Given the description of an element on the screen output the (x, y) to click on. 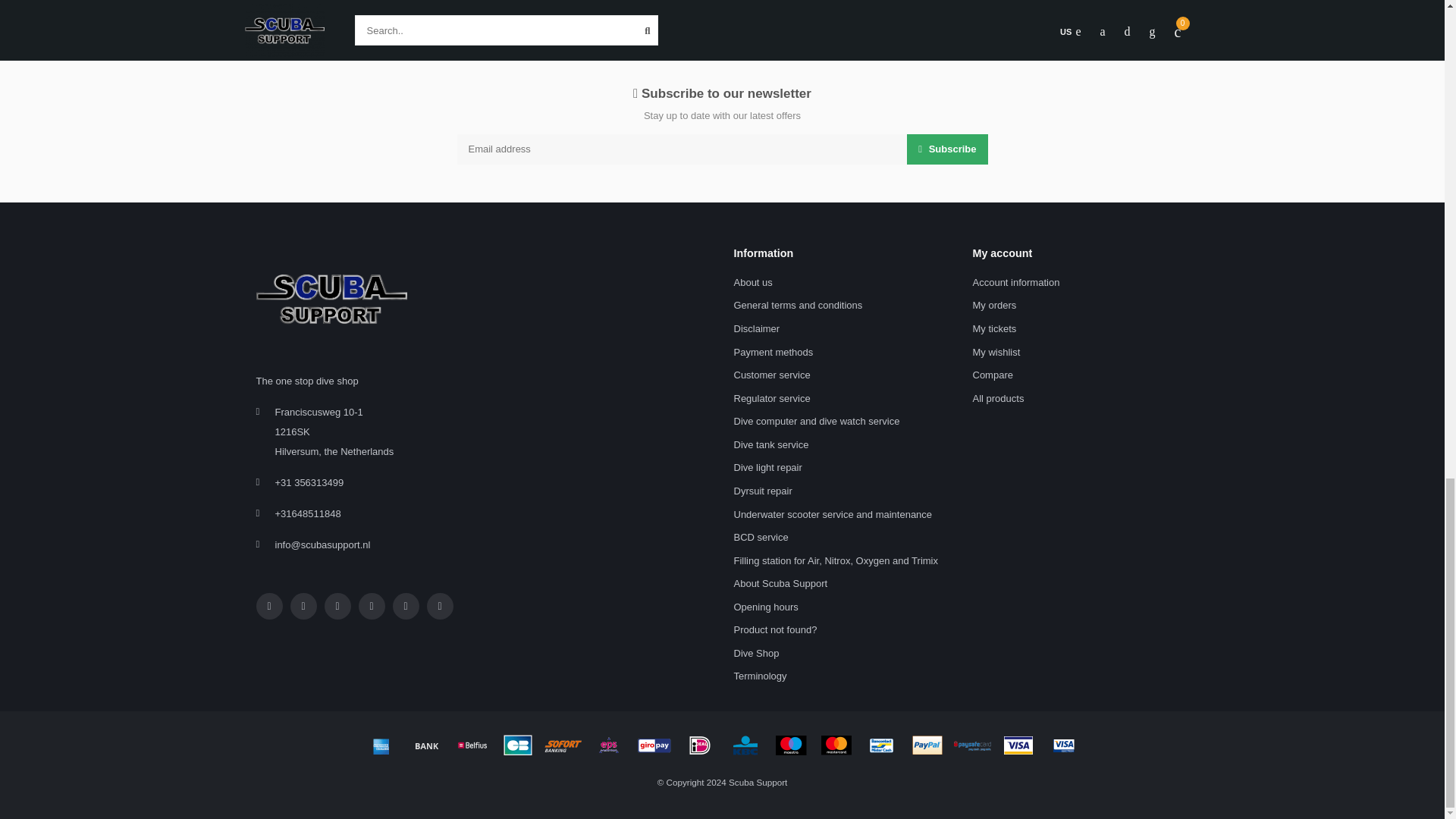
General terms and conditions (798, 305)
About us (753, 282)
